Given the description of an element on the screen output the (x, y) to click on. 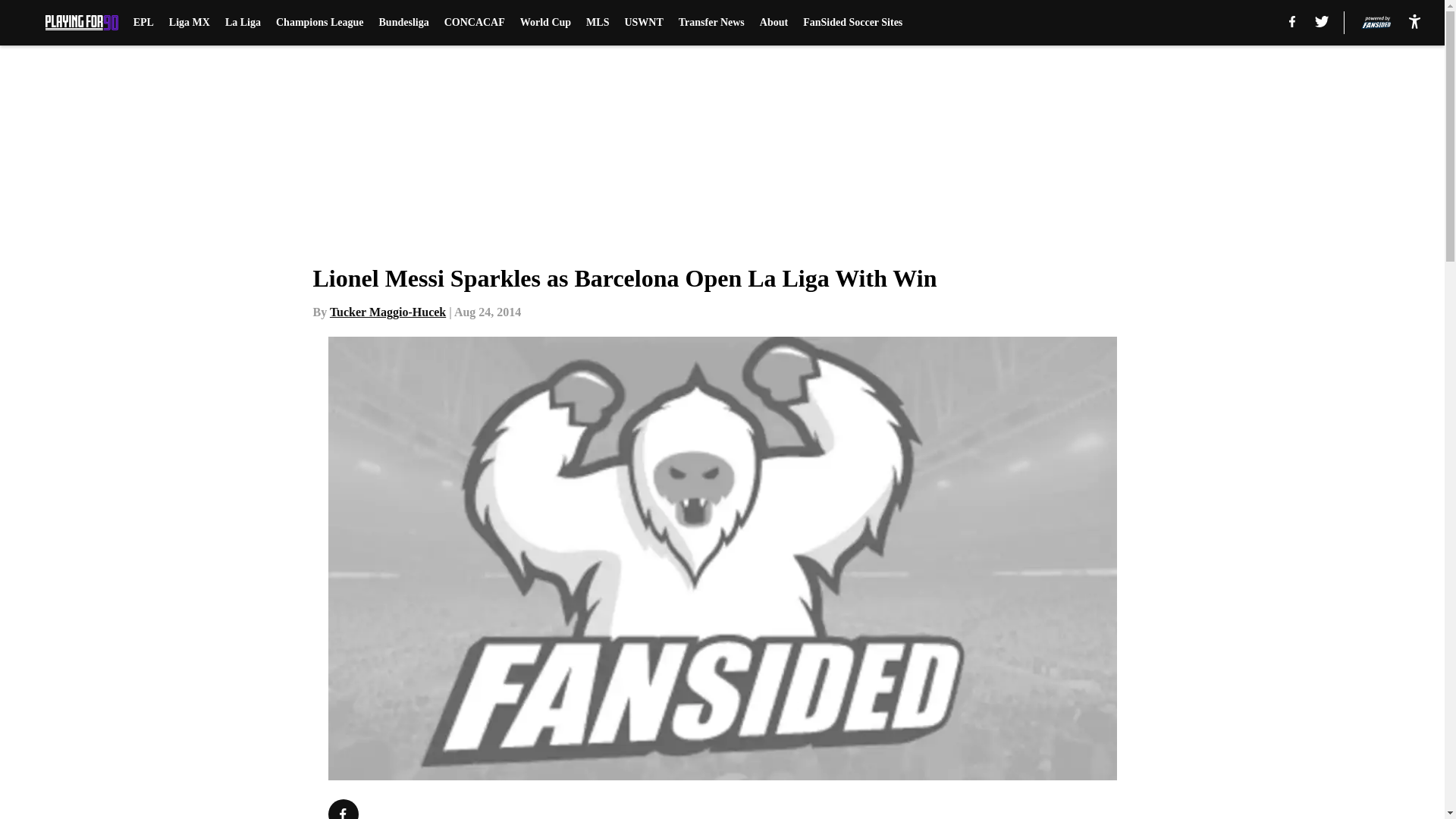
Liga MX (188, 22)
EPL (143, 22)
CONCACAF (474, 22)
La Liga (242, 22)
FanSided Soccer Sites (852, 22)
Bundesliga (403, 22)
Champions League (320, 22)
World Cup (544, 22)
About (773, 22)
USWNT (643, 22)
MLS (597, 22)
Tucker Maggio-Hucek (387, 311)
Transfer News (711, 22)
